Given the description of an element on the screen output the (x, y) to click on. 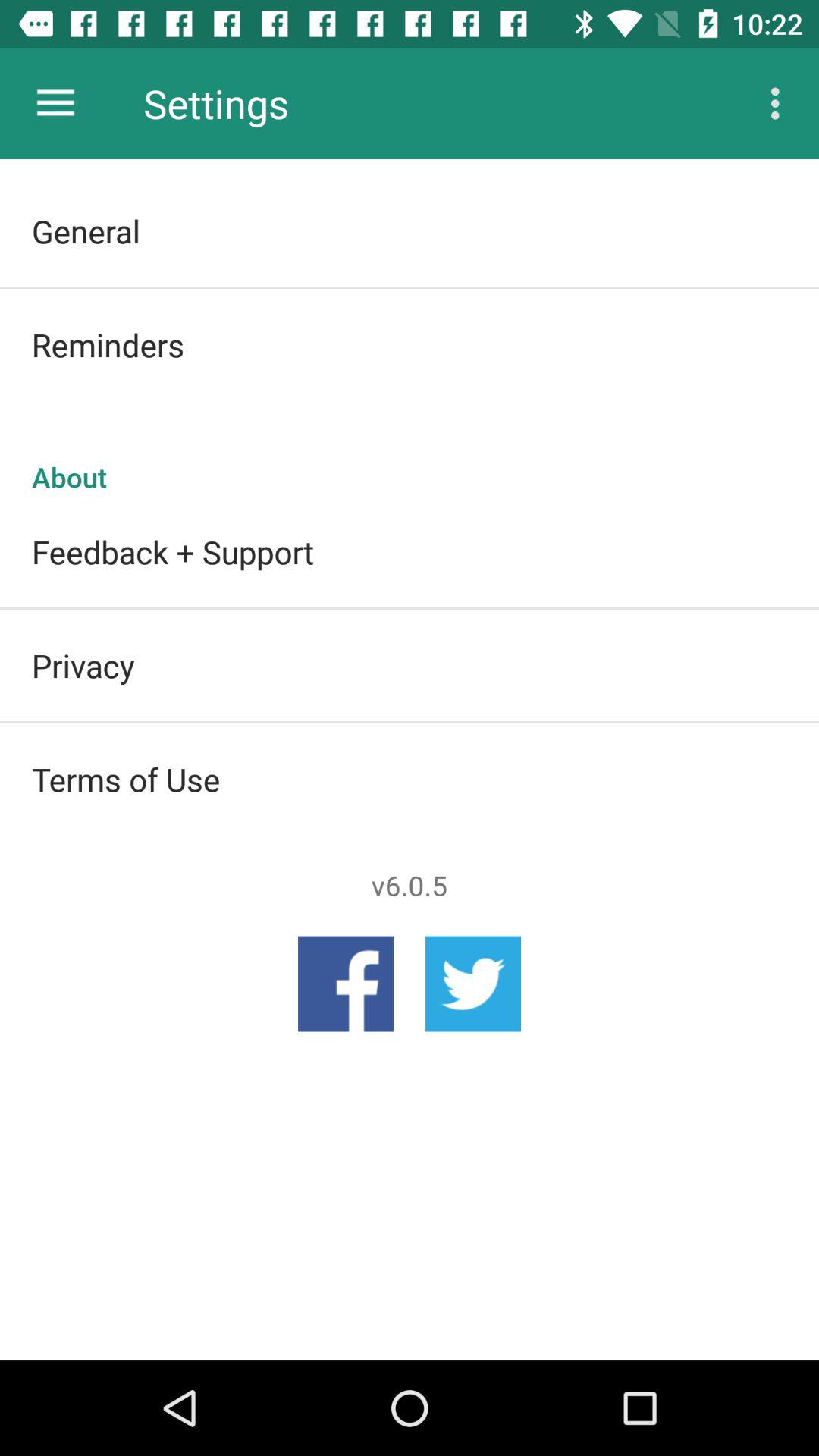
turn on icon above the general item (55, 103)
